Given the description of an element on the screen output the (x, y) to click on. 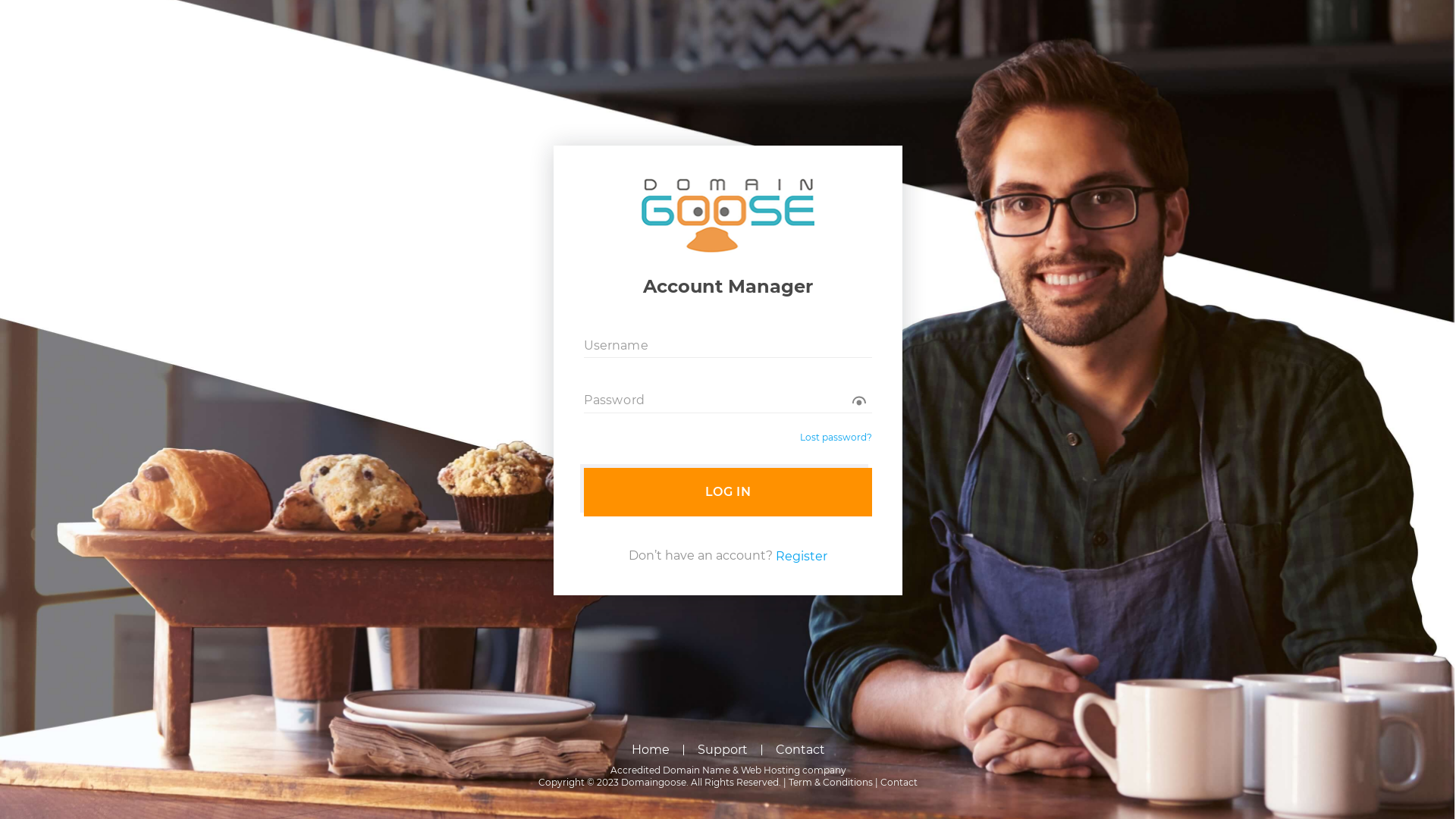
LOG IN Element type: text (727, 491)
Support Element type: text (722, 749)
Register Element type: text (801, 556)
Contact Element type: text (898, 781)
Home Element type: text (649, 749)
Term & Conditions Element type: text (830, 781)
Contact Element type: text (799, 749)
Lost password? Element type: text (836, 437)
